Given the description of an element on the screen output the (x, y) to click on. 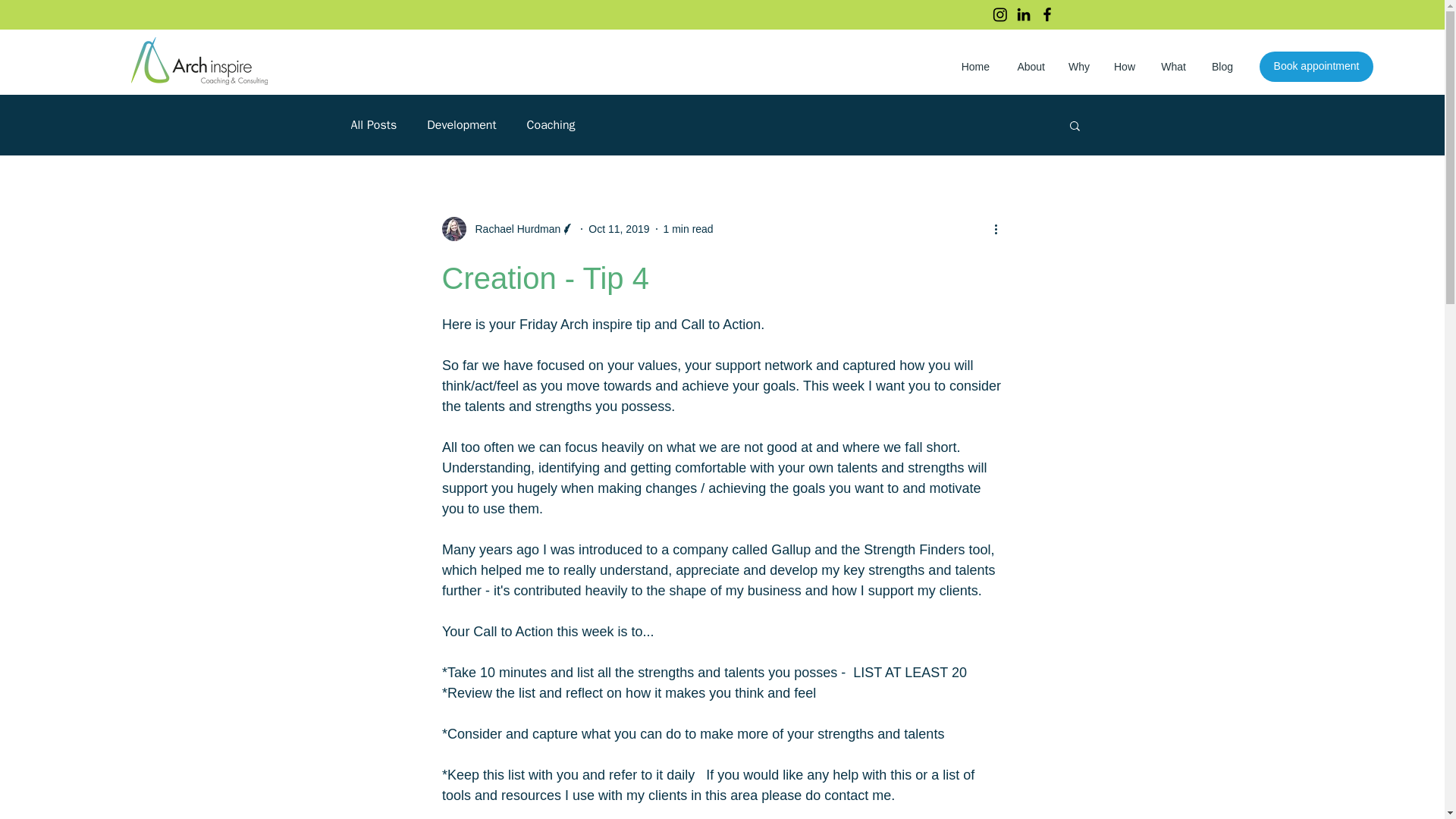
Why (1078, 66)
Development (461, 124)
Oct 11, 2019 (618, 228)
Home (972, 66)
Book appointment (1316, 66)
All Posts (373, 124)
Coaching (551, 124)
How (1123, 66)
1 min read (688, 228)
Blog (1220, 66)
